Given the description of an element on the screen output the (x, y) to click on. 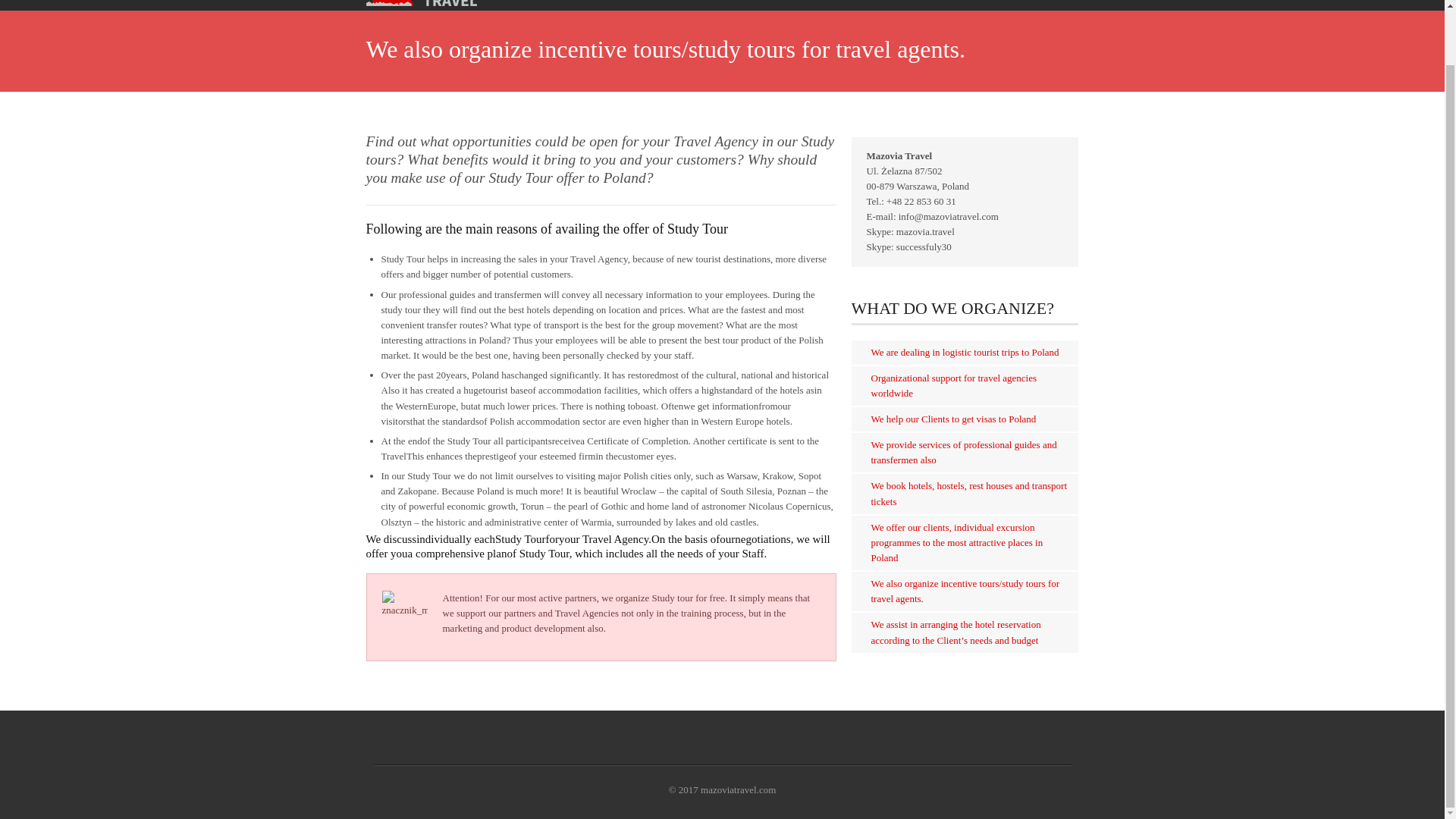
We are dealing in logistic tourist trips to Poland (964, 351)
We help our Clients to get visas to Poland (952, 419)
We book hotels, hostels, rest houses and transport tickets (968, 492)
